Given the description of an element on the screen output the (x, y) to click on. 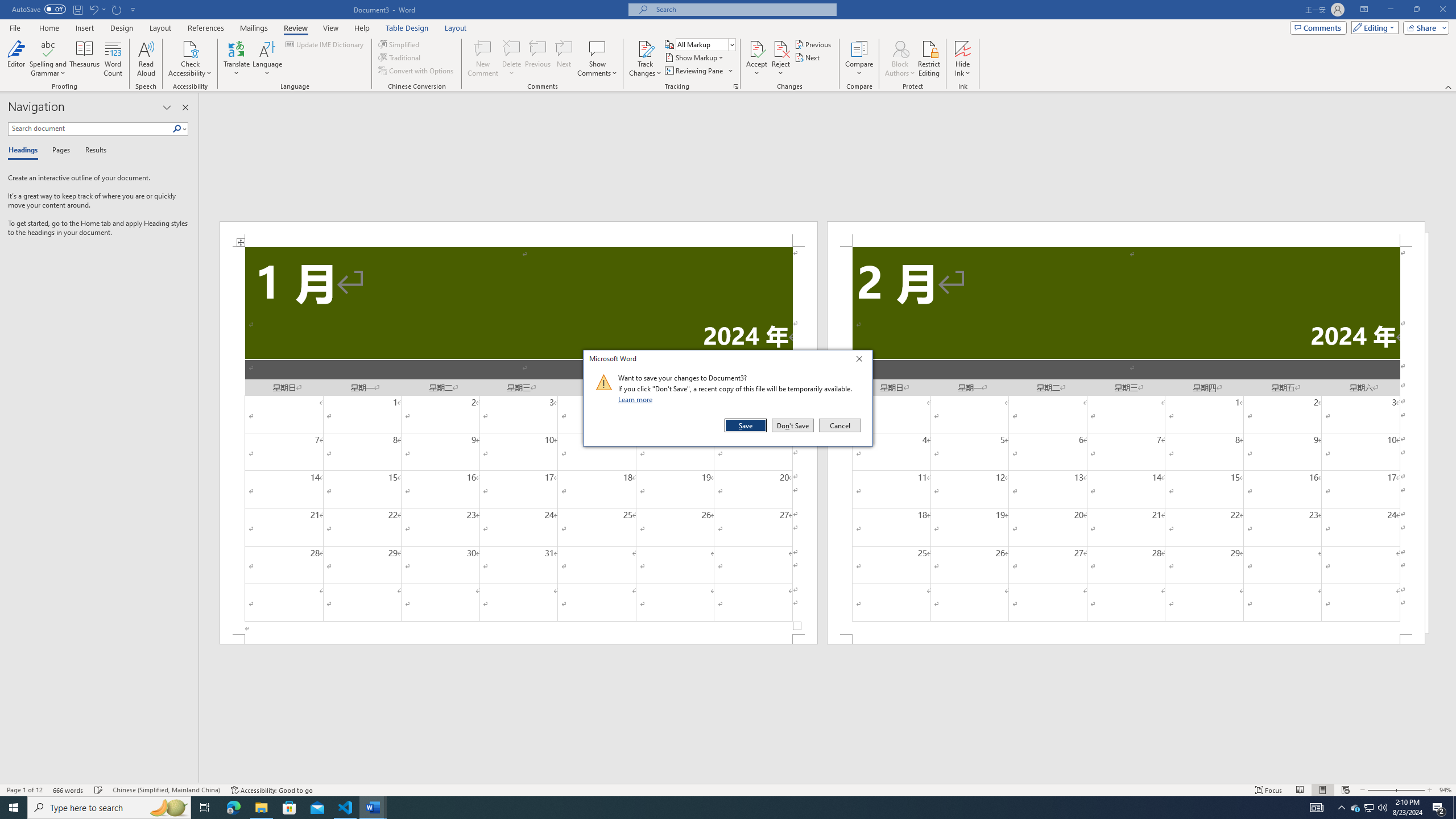
Traditional (400, 56)
Start (13, 807)
File Explorer - 1 running window (261, 807)
Header -Section 1- (518, 233)
